Given the description of an element on the screen output the (x, y) to click on. 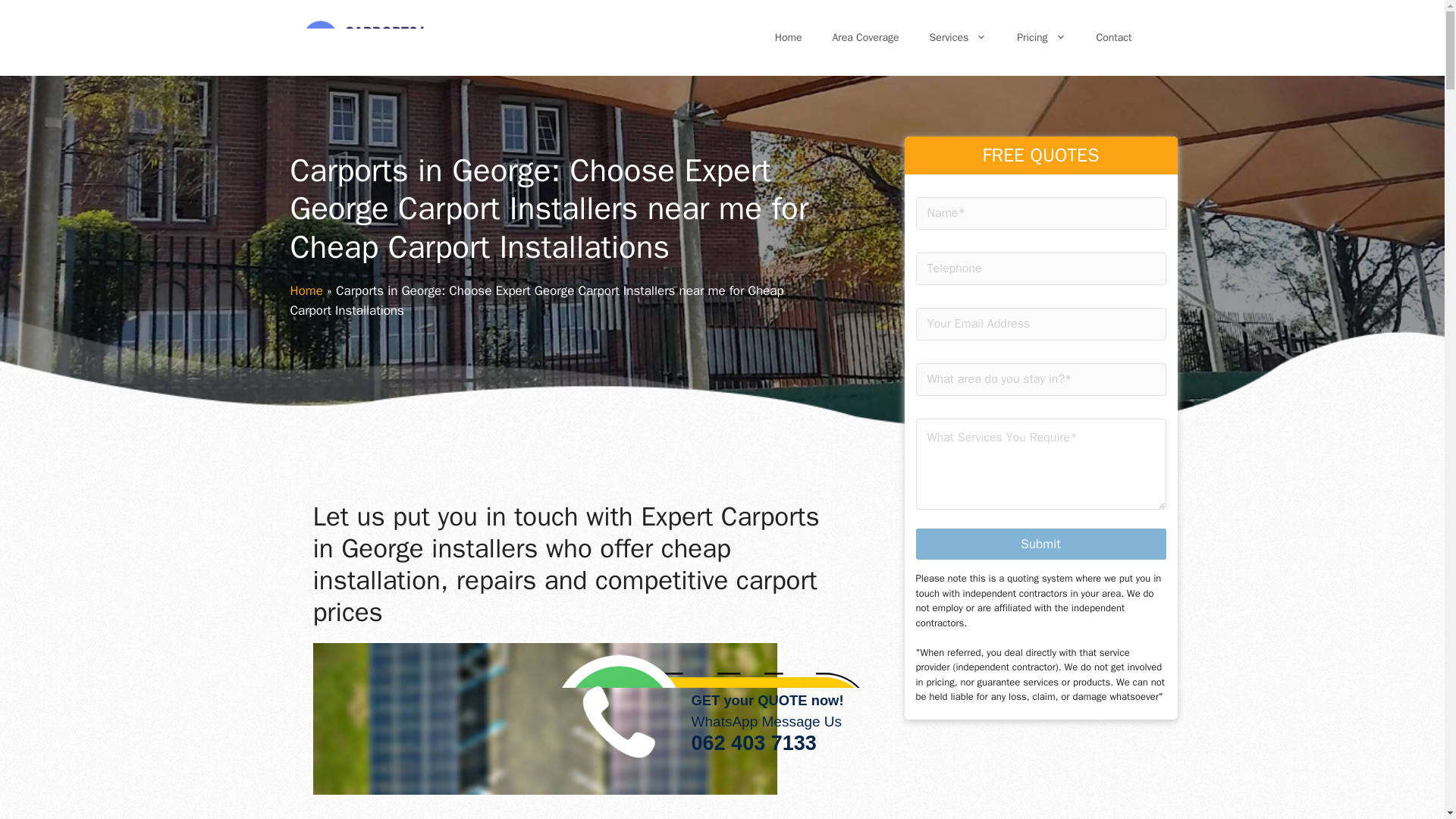
Submit (1040, 543)
Contact (1114, 37)
Area Coverage (865, 37)
Pricing (1040, 37)
Home (305, 290)
Home (721, 732)
Services (788, 37)
